Given the description of an element on the screen output the (x, y) to click on. 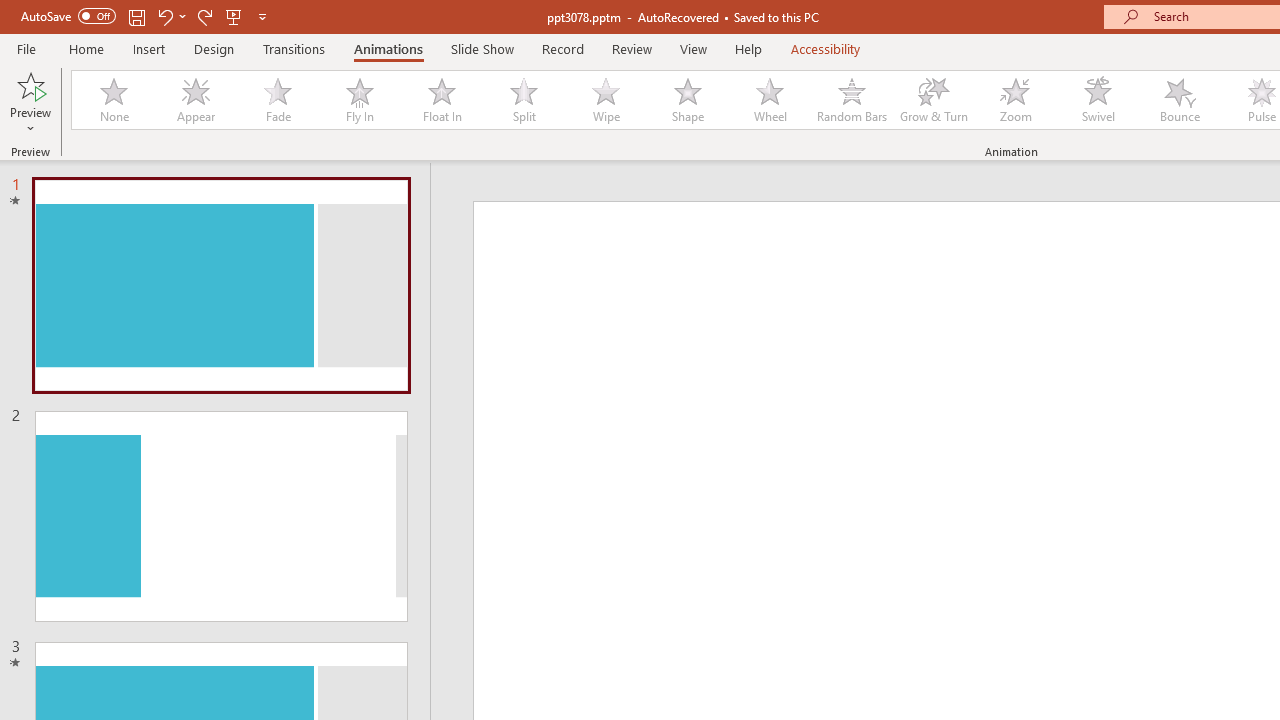
Split (523, 100)
Wheel (770, 100)
Appear (195, 100)
Fade (277, 100)
